Given the description of an element on the screen output the (x, y) to click on. 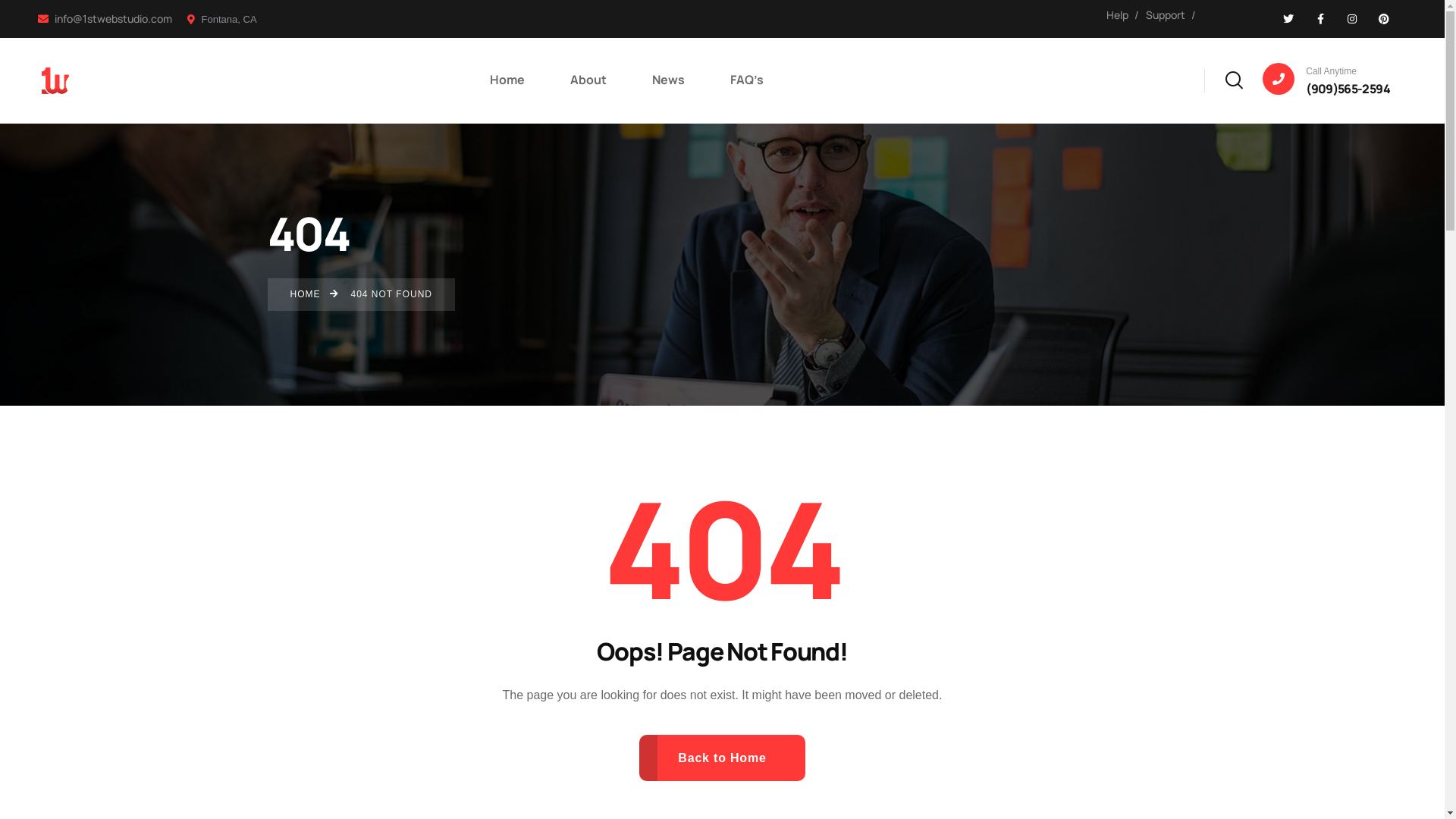
About Element type: text (588, 79)
Support Element type: text (1165, 15)
info@1stwebstudio.com Element type: text (104, 19)
/ Element type: text (1193, 15)
/ Element type: text (1136, 15)
HOME Element type: text (304, 293)
Help Element type: text (1116, 15)
Home Element type: text (507, 79)
Back to Home Element type: text (722, 757)
News Element type: text (668, 79)
